Given the description of an element on the screen output the (x, y) to click on. 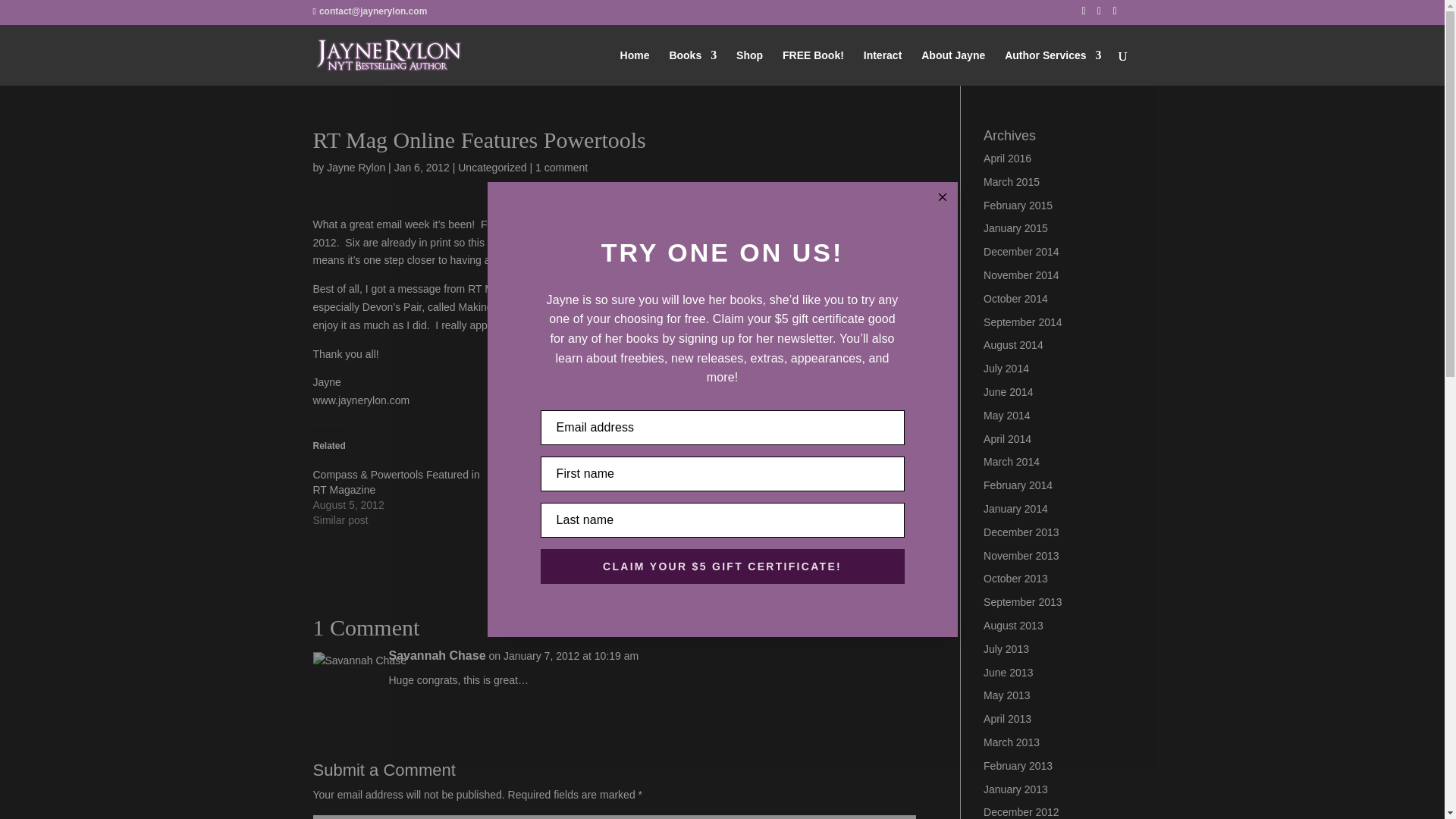
Author Services (1052, 67)
About Jayne (953, 67)
Uncategorized (491, 167)
Posts by Jayne Rylon (355, 167)
Savannah Chase (436, 656)
Books (692, 67)
Jayne Rylon (355, 167)
link (698, 306)
Interact (882, 67)
FREE Book! (813, 67)
1 comment (561, 167)
